Given the description of an element on the screen output the (x, y) to click on. 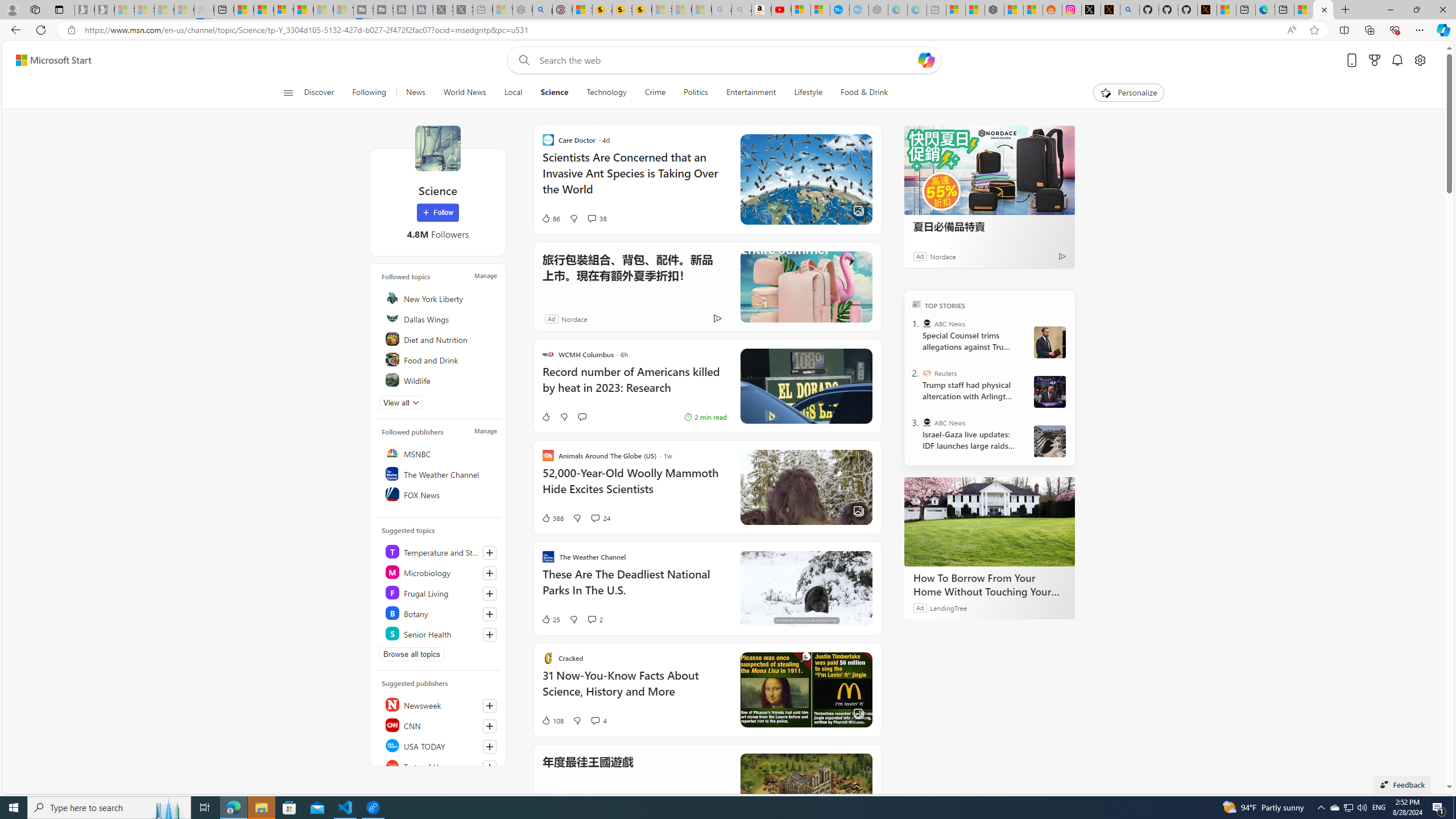
Microsoft rewards (1374, 60)
ABC News (927, 422)
Politics (695, 92)
108 Like (551, 720)
Entertainment (750, 92)
Nordace - Summer Adventures 2024 - Sleeping (522, 9)
View comments 38 Comment (591, 217)
Shanghai, China Weather trends | Microsoft Weather (1033, 9)
